Given the description of an element on the screen output the (x, y) to click on. 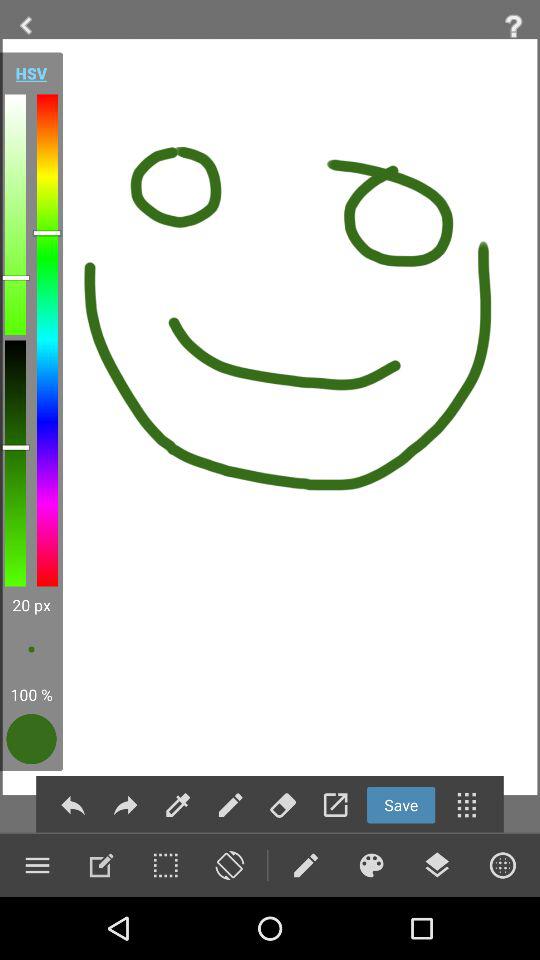
select menu (37, 865)
